Given the description of an element on the screen output the (x, y) to click on. 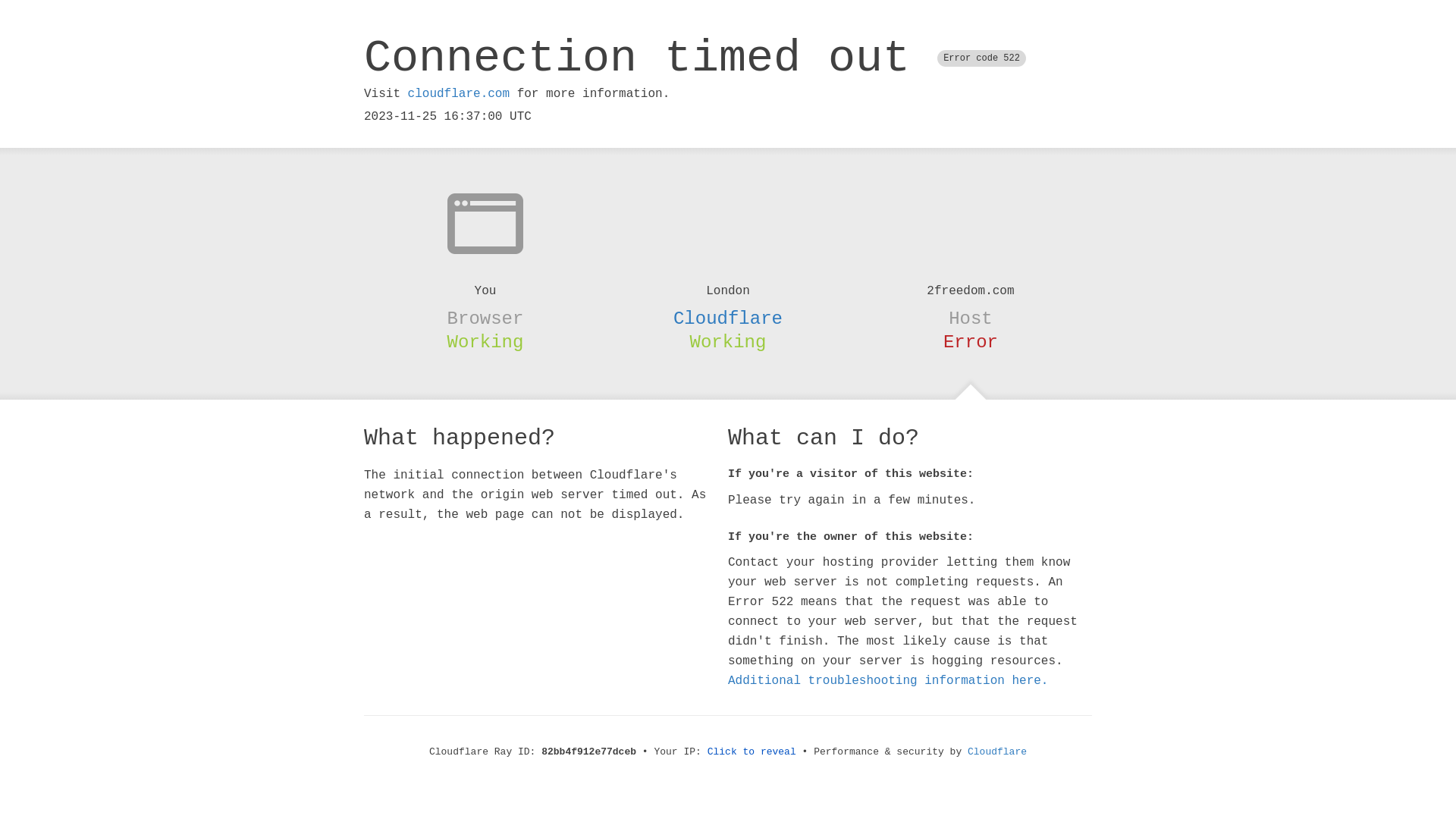
Additional troubleshooting information here. Element type: text (888, 680)
cloudflare.com Element type: text (458, 93)
Cloudflare Element type: text (996, 751)
Cloudflare Element type: text (727, 318)
Click to reveal Element type: text (751, 751)
